Given the description of an element on the screen output the (x, y) to click on. 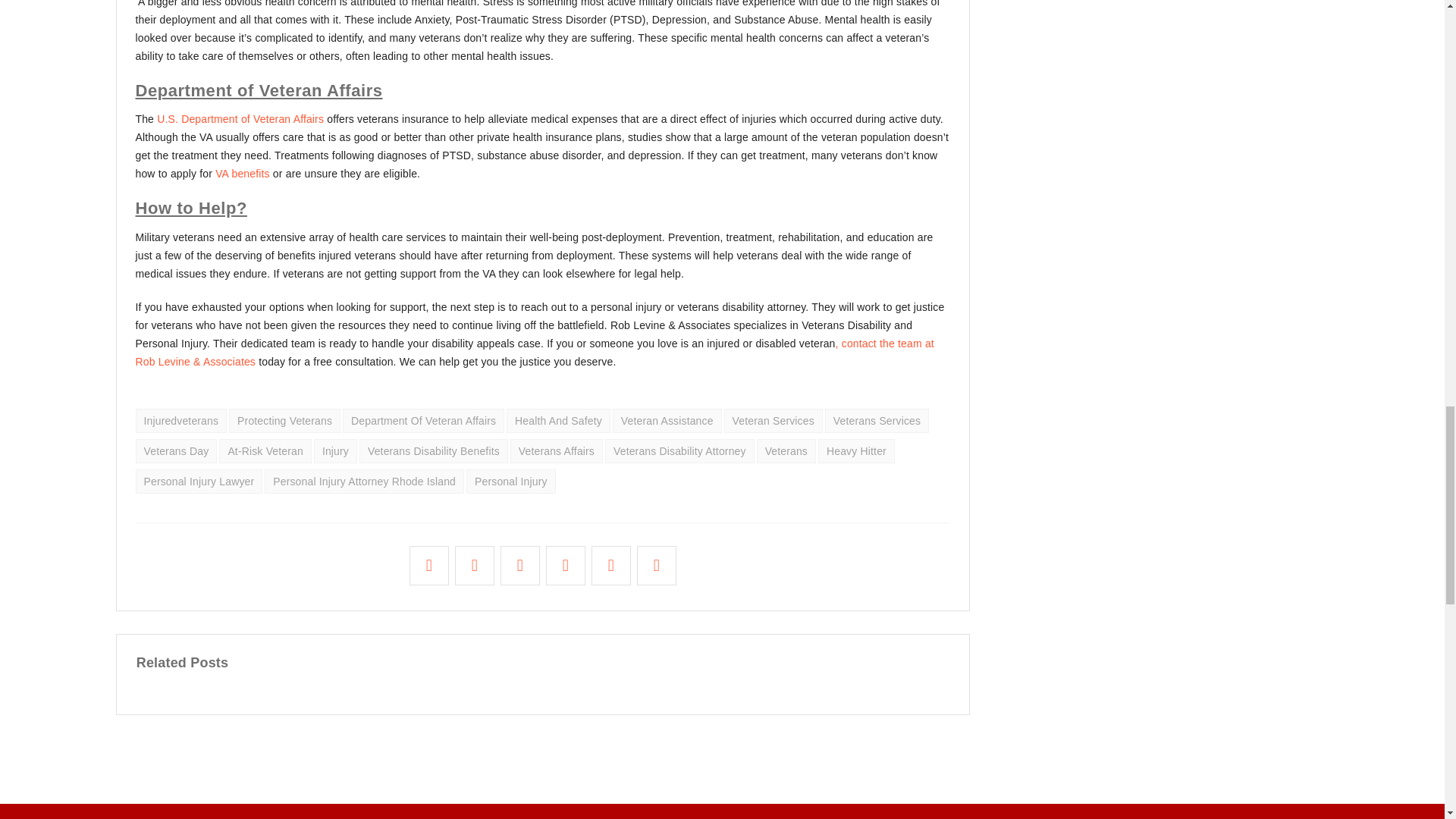
Share via Email (656, 565)
Share on Reddit (611, 565)
Share on Pinterest (566, 565)
Share on Facebook (429, 565)
Share on LinkedIn (474, 565)
Share on Vk (519, 565)
